Given the description of an element on the screen output the (x, y) to click on. 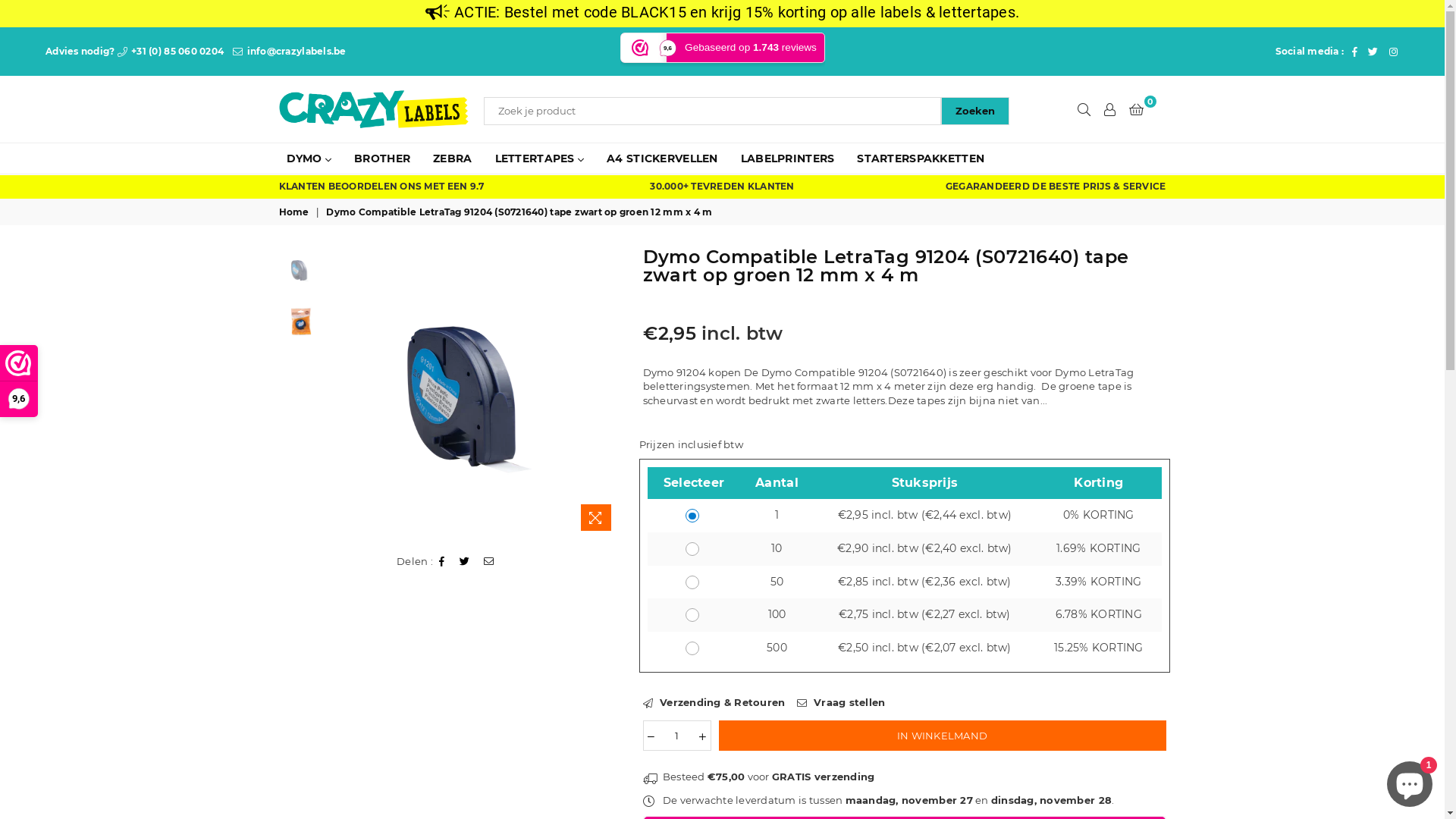
info@crazylabels.be Element type: text (288, 50)
IN WINKELMAND Element type: text (942, 735)
Instagram Element type: text (1392, 51)
Facebook Element type: text (1354, 51)
ZEBRA Element type: text (452, 158)
Crazylabels.be Element type: text (343, 109)
Zoek Element type: hover (1083, 108)
30.000+ TEVREDEN KLANTEN Element type: text (721, 185)
+31 (0) 85 060 0204 Element type: text (170, 50)
Delen via E-mail Element type: hover (489, 561)
Instellingen Element type: hover (1109, 108)
Home Element type: text (295, 212)
0 Element type: text (1136, 108)
LETTERTAPES Element type: text (539, 158)
BROTHER Element type: text (381, 158)
DYMO Element type: text (309, 158)
KLANTEN BEOORDELEN ONS MET EEN 9.7 Element type: text (381, 185)
Tweet op Twitter Element type: hover (464, 561)
STARTERSPAKKETTEN Element type: text (920, 158)
Onlinewinkel-chat van Shopify Element type: hover (1409, 780)
Verzending & Retouren Element type: text (714, 702)
Delen op Facebook Element type: hover (441, 561)
LABELPRINTERS Element type: text (787, 158)
Zoeken Element type: text (975, 111)
Vraag stellen Element type: text (840, 702)
Twitter Element type: text (1372, 51)
GEGARANDEERD DE BESTE PRIJS & SERVICE Element type: text (1055, 185)
A4 STICKERVELLEN Element type: text (661, 158)
Aantal Element type: hover (677, 735)
